Given the description of an element on the screen output the (x, y) to click on. 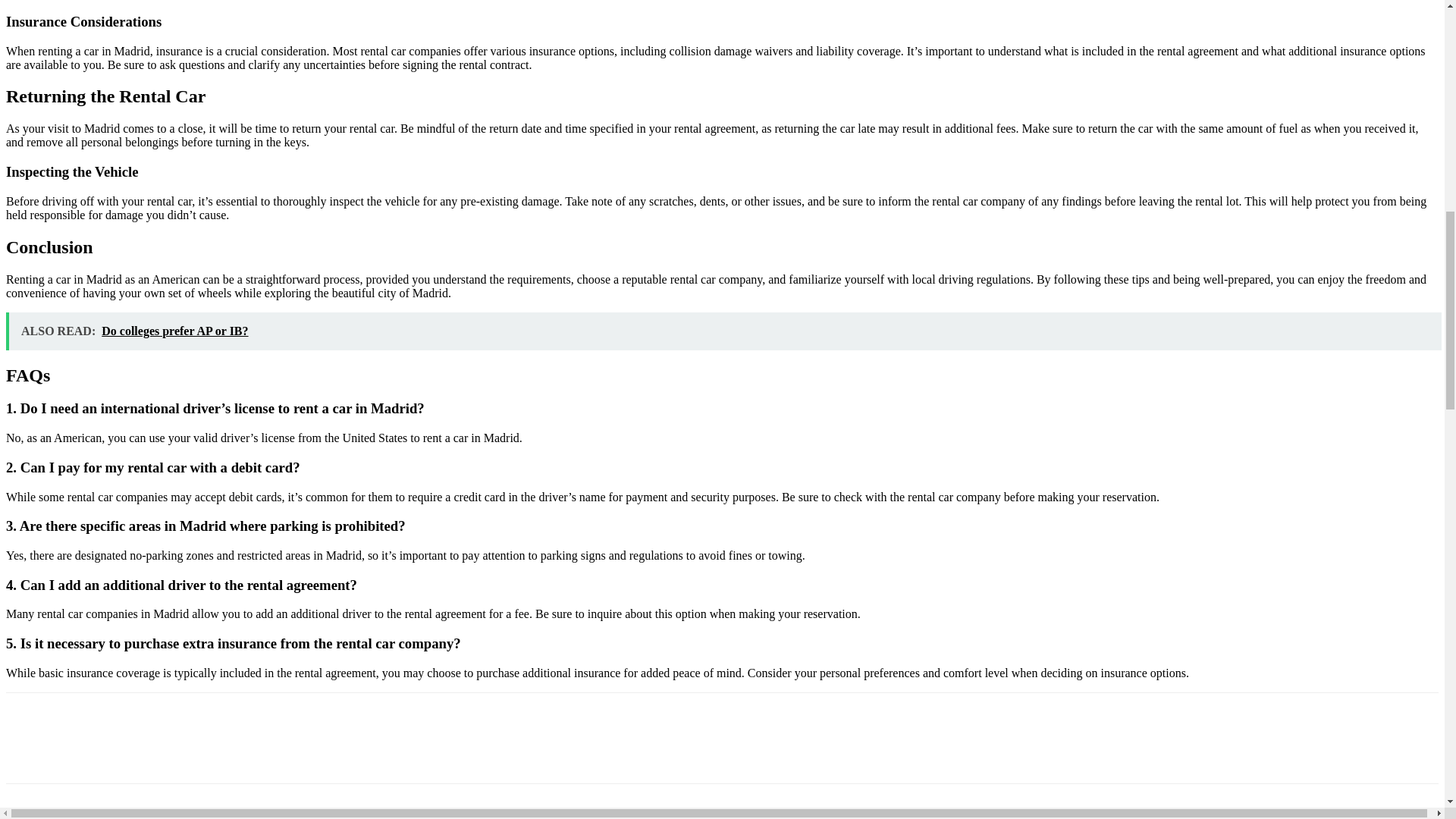
is queen mary bigger than titanic (161, 817)
bottomFacebookLike (118, 716)
ALSO READ:  Do colleges prefer AP or IB? (723, 331)
